Given the description of an element on the screen output the (x, y) to click on. 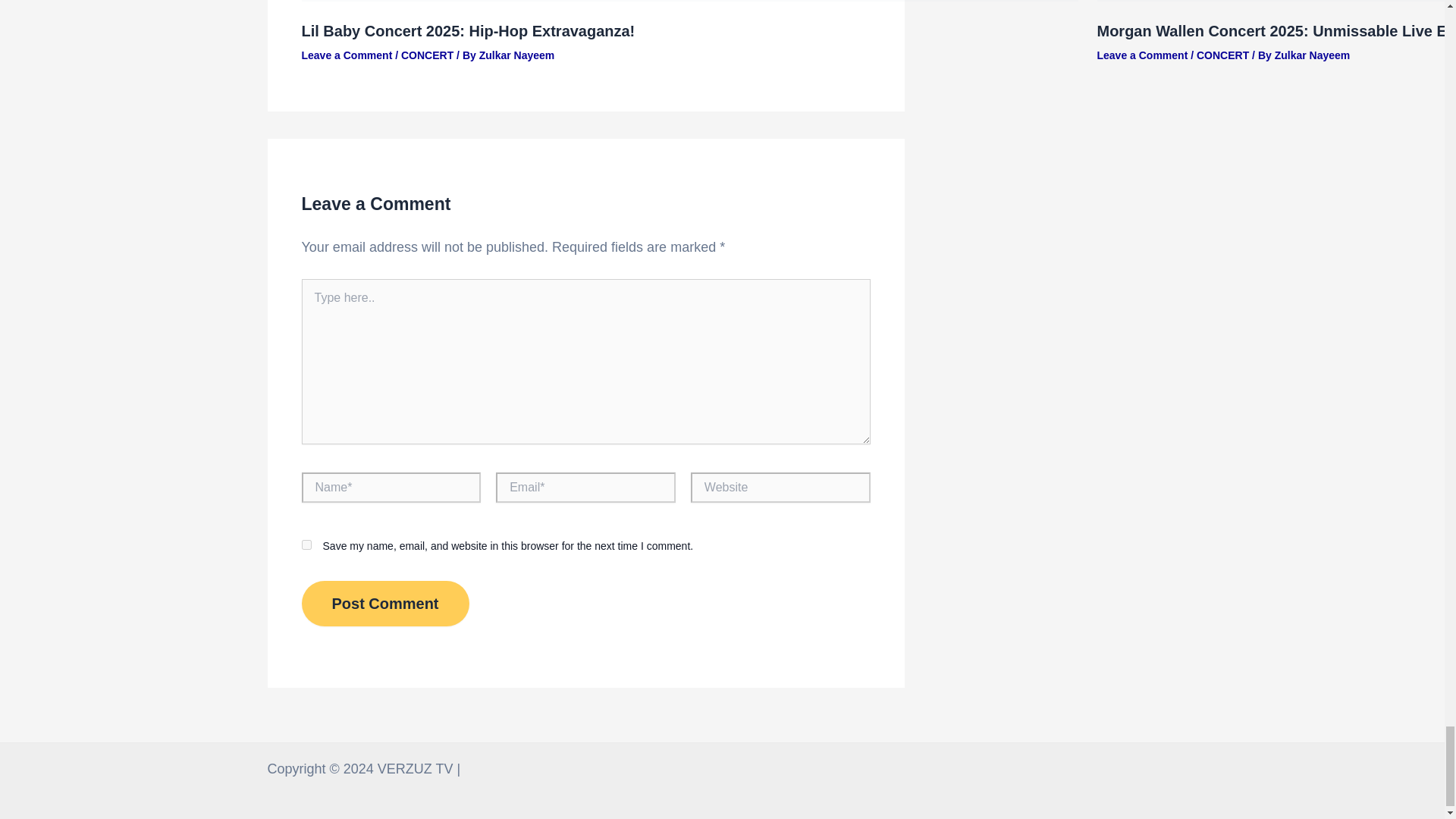
yes (306, 544)
Post Comment (384, 603)
CONCERT (1222, 55)
Lil Baby Concert 2025: Hip-Hop Extravaganza! (467, 30)
Post Comment (384, 603)
Zulkar Nayeem (1313, 55)
Leave a Comment (1142, 55)
View all posts by Zulkar Nayeem (516, 55)
Zulkar Nayeem (516, 55)
View all posts by Zulkar Nayeem (1313, 55)
Morgan Wallen Concert 2025: Unmissable Live Experience! (1276, 30)
Leave a Comment (347, 55)
CONCERT (426, 55)
